Given the description of an element on the screen output the (x, y) to click on. 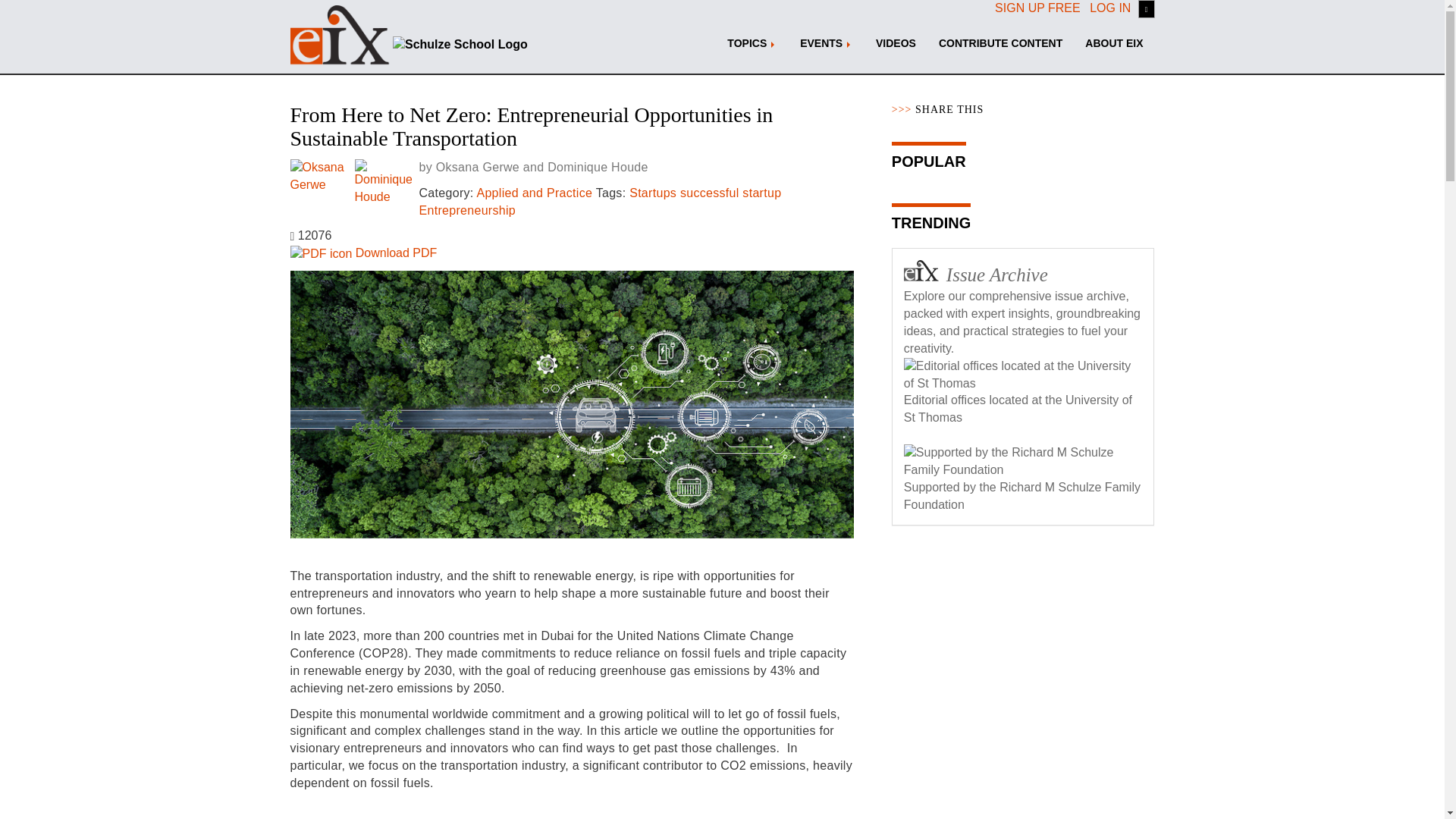
successful startup (729, 192)
EVENTS (826, 43)
LOG IN (1110, 7)
Startups (652, 192)
VIDEOS (895, 43)
SIGN UP FREE (1037, 7)
Dominique Houde (597, 166)
Oksana Gerwe (477, 166)
Entrepreneurship (467, 210)
ABOUT EIX (1114, 43)
